Given the description of an element on the screen output the (x, y) to click on. 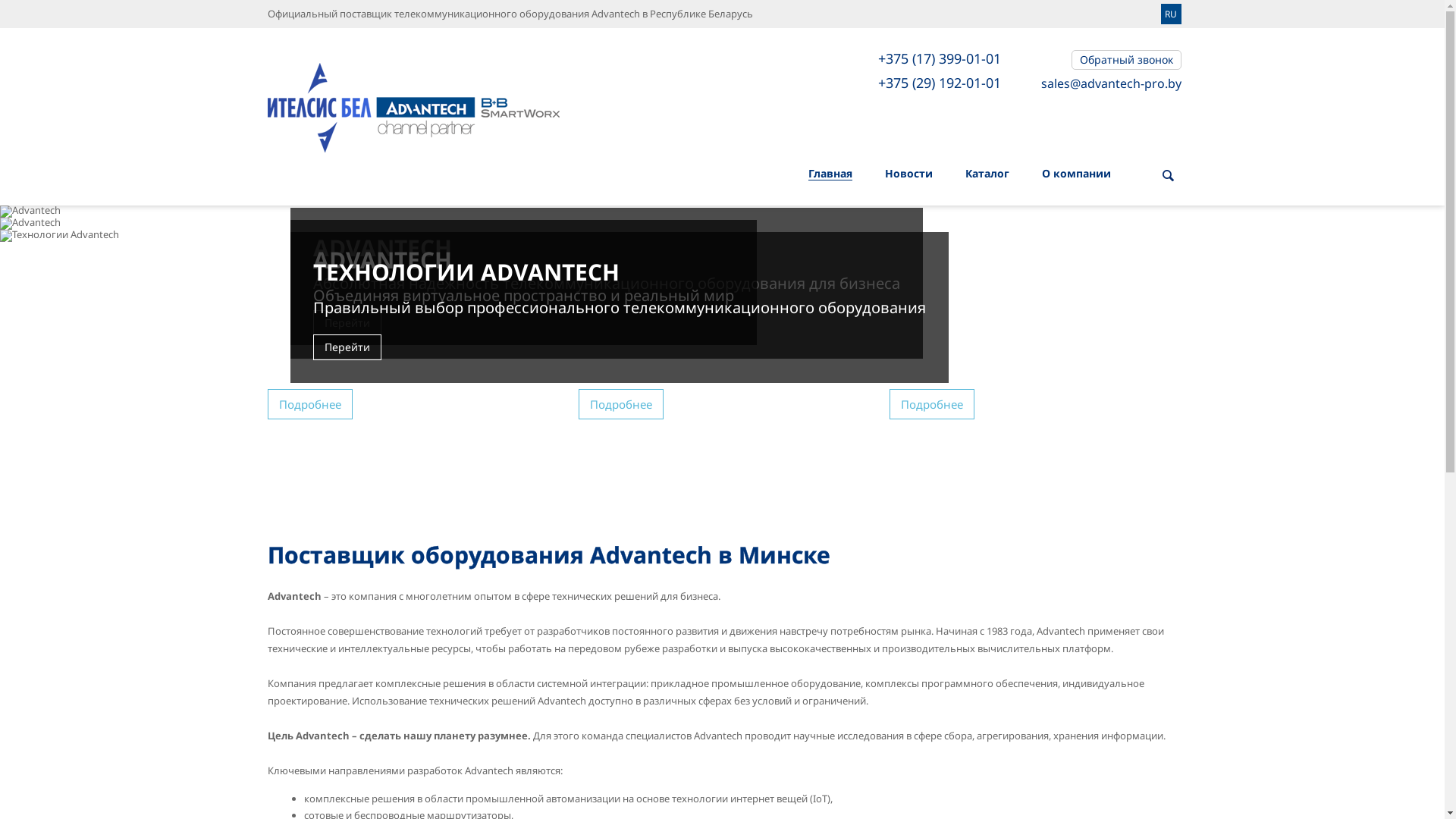
+375 (17) 399-01-01 Element type: text (939, 59)
RU Element type: text (1170, 13)
+375 (29) 192-01-01 Element type: text (939, 84)
Advantech B+B SmartWorx Element type: hover (412, 99)
sales@advantech-pro.by Element type: text (1110, 83)
